Given the description of an element on the screen output the (x, y) to click on. 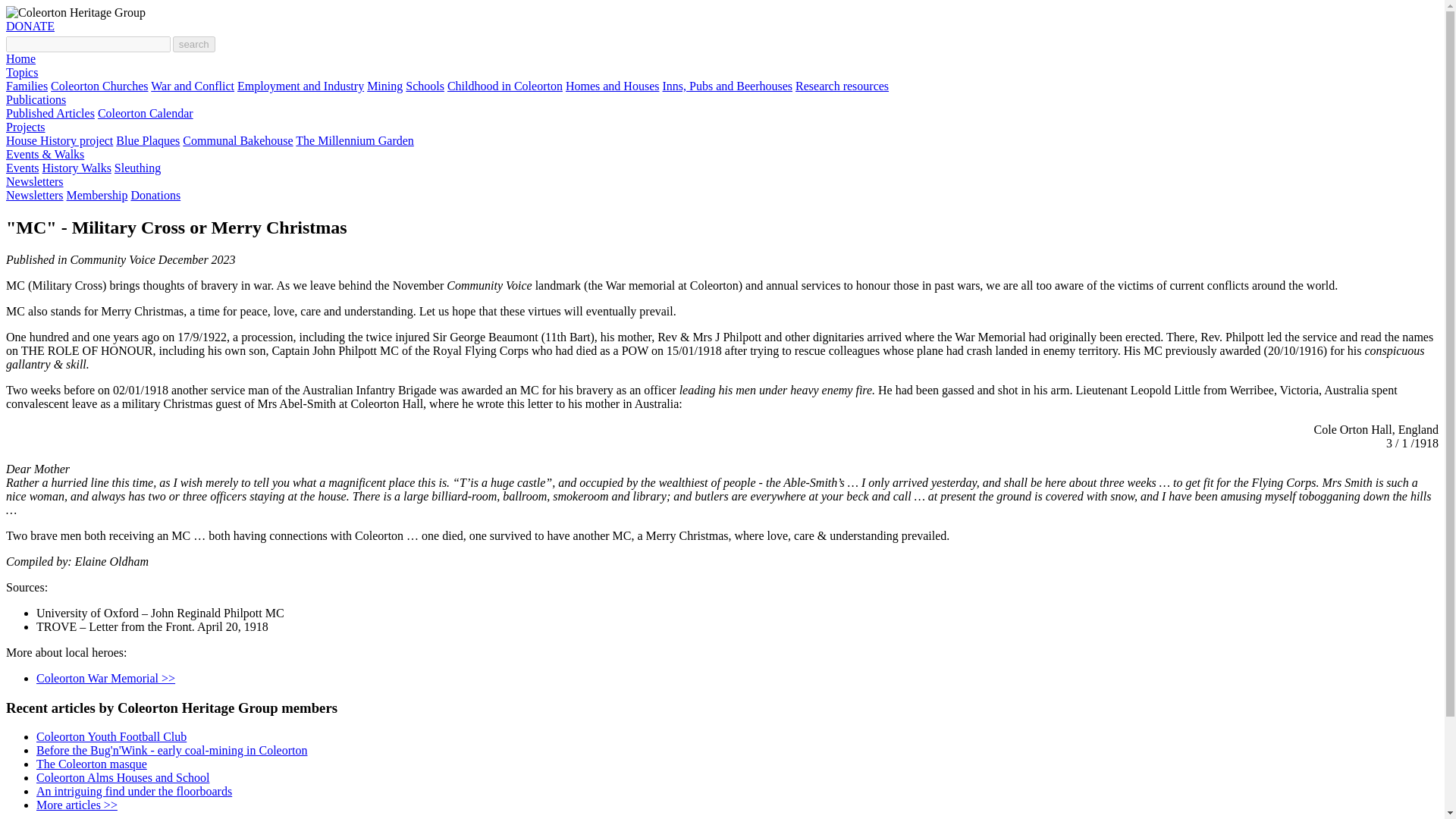
Coleorton Calendar (145, 113)
Mining (384, 85)
Families (26, 85)
An intriguing find under the floorboards (133, 790)
Newsletters (34, 181)
Coleorton Youth Football Club (111, 736)
Research resources (841, 85)
Coleorton Alms Houses and School (122, 777)
Communal Bakehouse (237, 140)
Coleorton Heritage Group (75, 12)
The Millennium Garden (354, 140)
Membership (97, 195)
Projects (25, 126)
Events (22, 167)
Blue Plaques (147, 140)
